Given the description of an element on the screen output the (x, y) to click on. 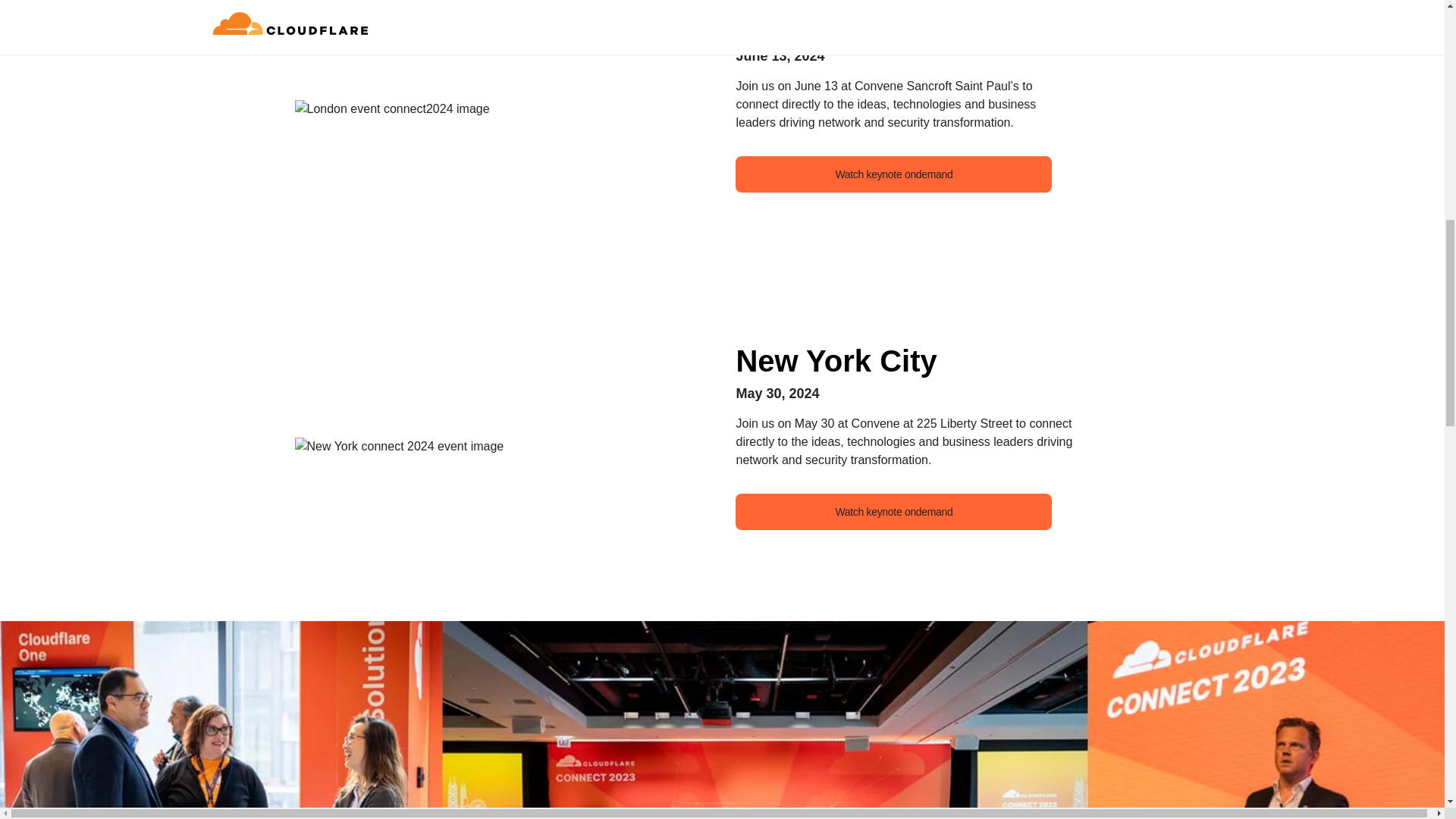
Watch keynote ondemand (893, 511)
Watch keynote ondemand (893, 174)
